Given the description of an element on the screen output the (x, y) to click on. 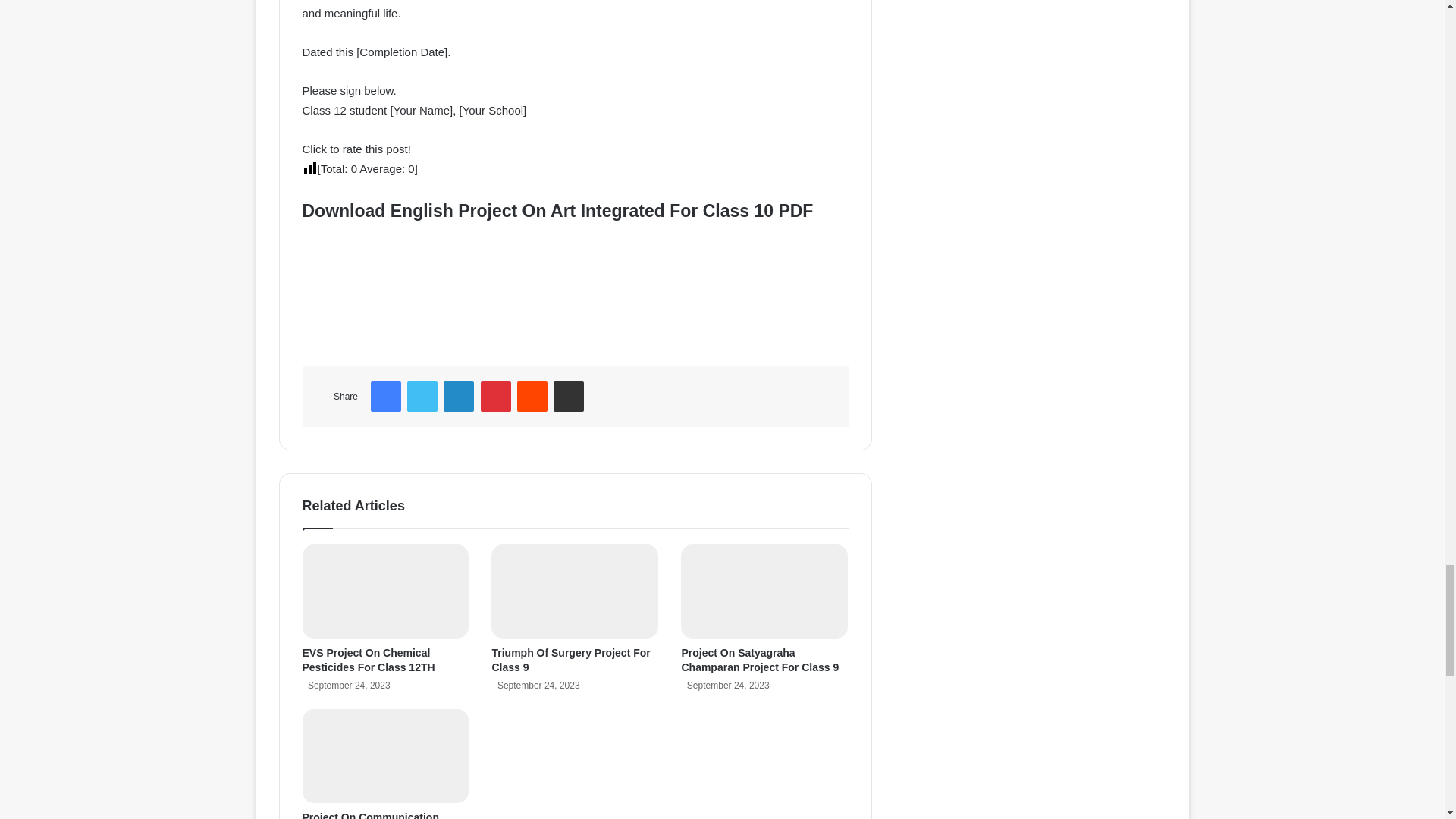
Pinterest (495, 396)
Reddit (531, 396)
Twitter (422, 396)
Facebook (386, 396)
LinkedIn (459, 396)
